Given the description of an element on the screen output the (x, y) to click on. 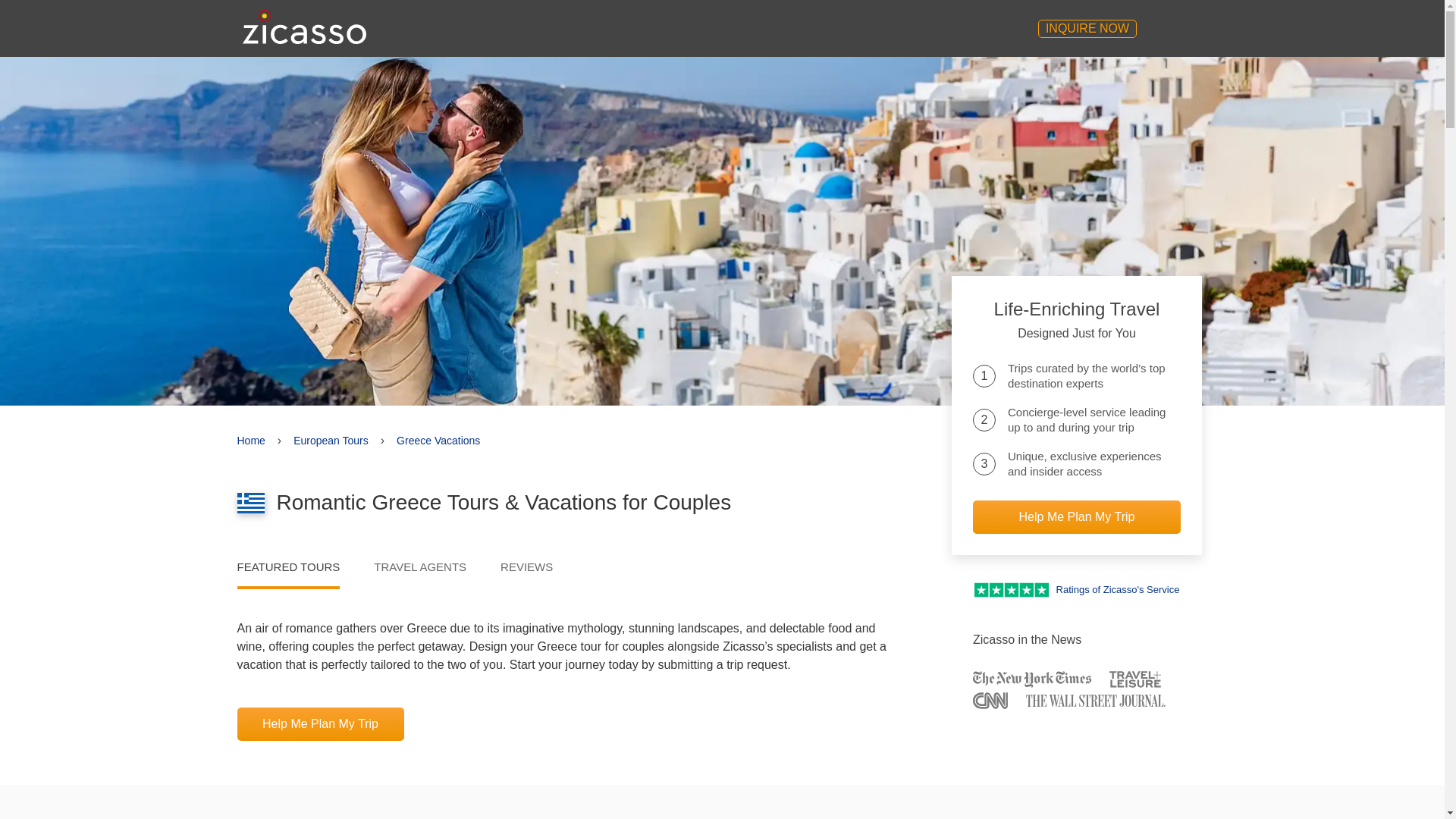
INQUIRE NOW (1087, 28)
Zicasso Logo (304, 26)
